Given the description of an element on the screen output the (x, y) to click on. 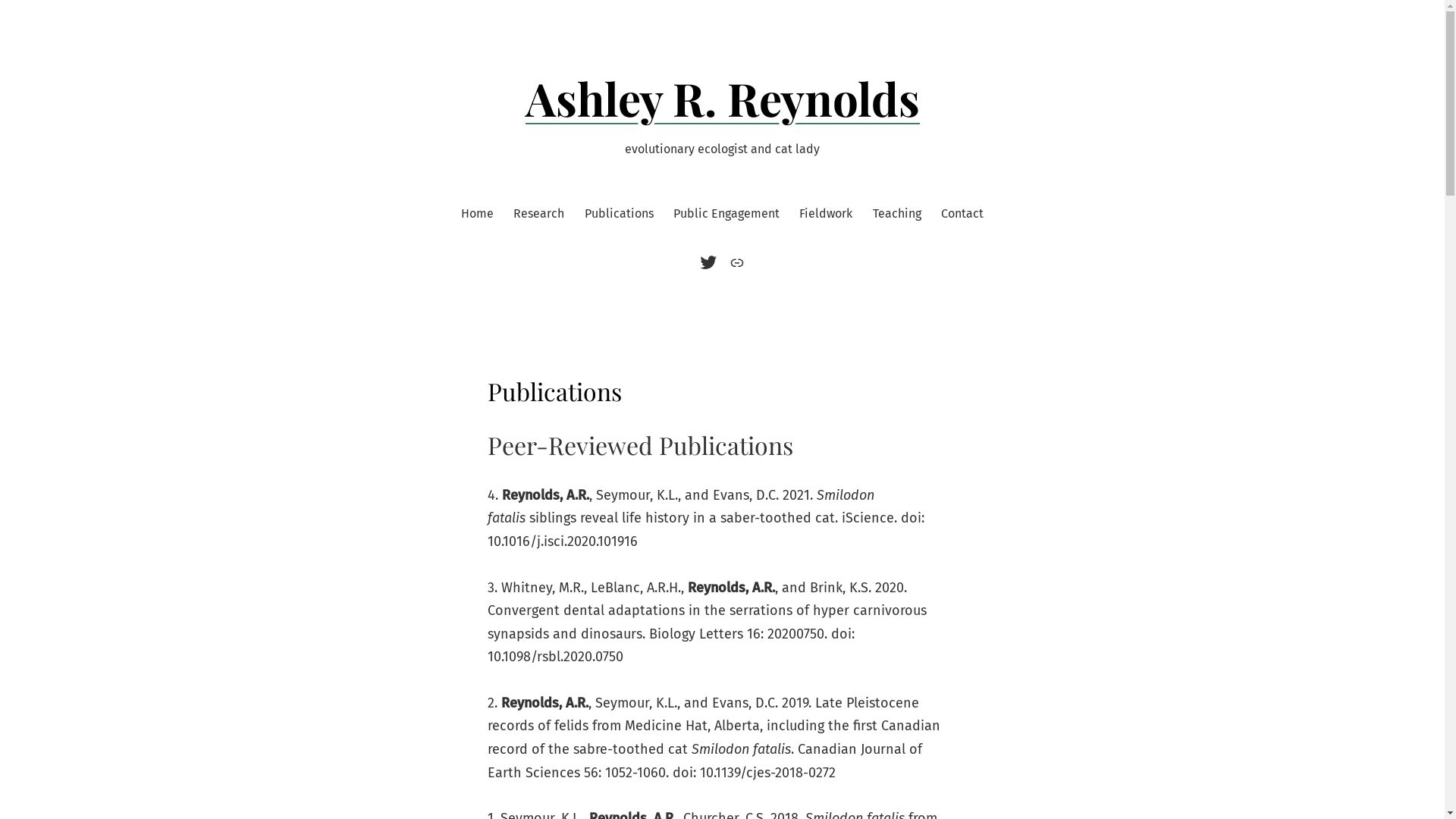
Home Element type: text (477, 213)
Fieldwork Element type: text (825, 213)
Ashley R. Reynolds Element type: text (721, 97)
Mastodon Element type: text (734, 262)
Contact Element type: text (962, 213)
Public Engagement Element type: text (726, 213)
Publications Element type: text (618, 213)
Research Element type: text (538, 213)
Twitter Element type: text (710, 262)
Teaching Element type: text (896, 213)
